Given the description of an element on the screen output the (x, y) to click on. 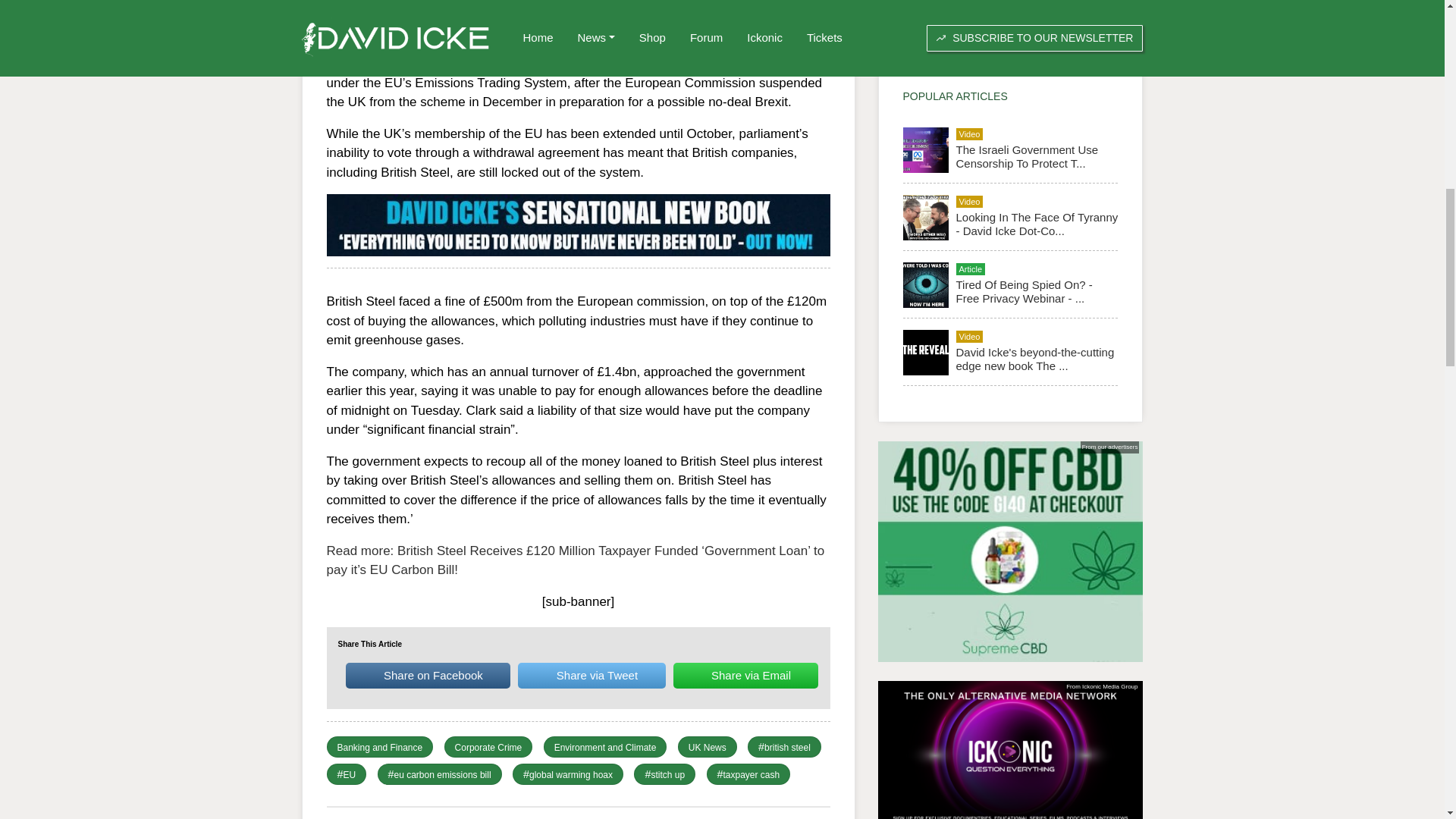
Banking and Finance (379, 747)
Share on Facebook (428, 675)
Environment and Climate (605, 747)
Share via Email (745, 675)
EU (348, 774)
Share via Tweet (591, 675)
UK News (707, 747)
Corporate Crime (488, 747)
british steel (787, 747)
